Given the description of an element on the screen output the (x, y) to click on. 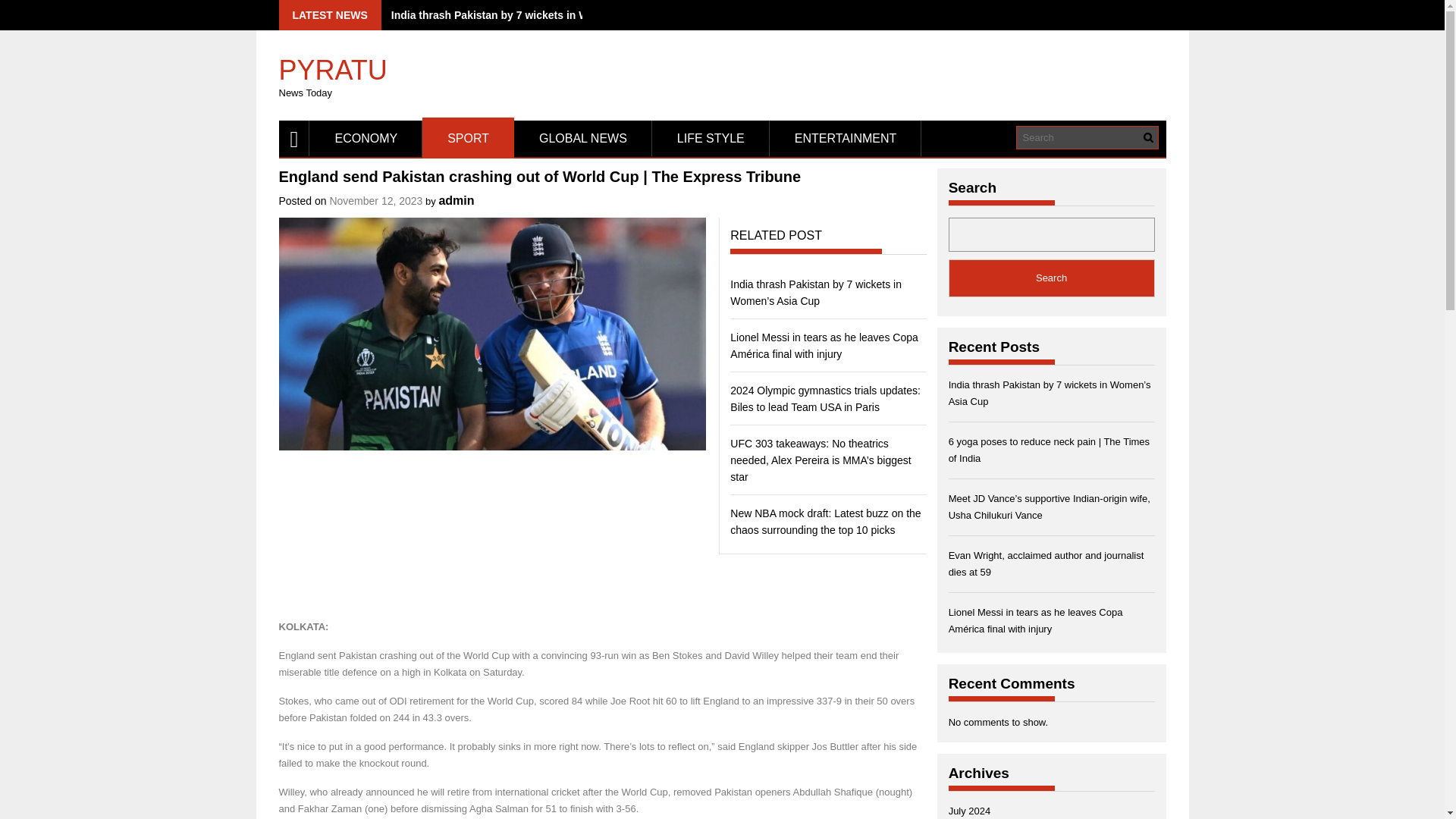
PYRATU (333, 62)
GLOBAL NEWS (582, 138)
ENTERTAINMENT (845, 138)
July 2024 (970, 810)
Evan Wright, acclaimed author and journalist dies at 59 (1046, 563)
India thrash Pakistan by 7 wickets in Women's Asia Cup (532, 15)
November 12, 2023 (375, 200)
ECONOMY (365, 138)
Search (1051, 278)
SPORT (467, 138)
LIFE STYLE (711, 138)
